Given the description of an element on the screen output the (x, y) to click on. 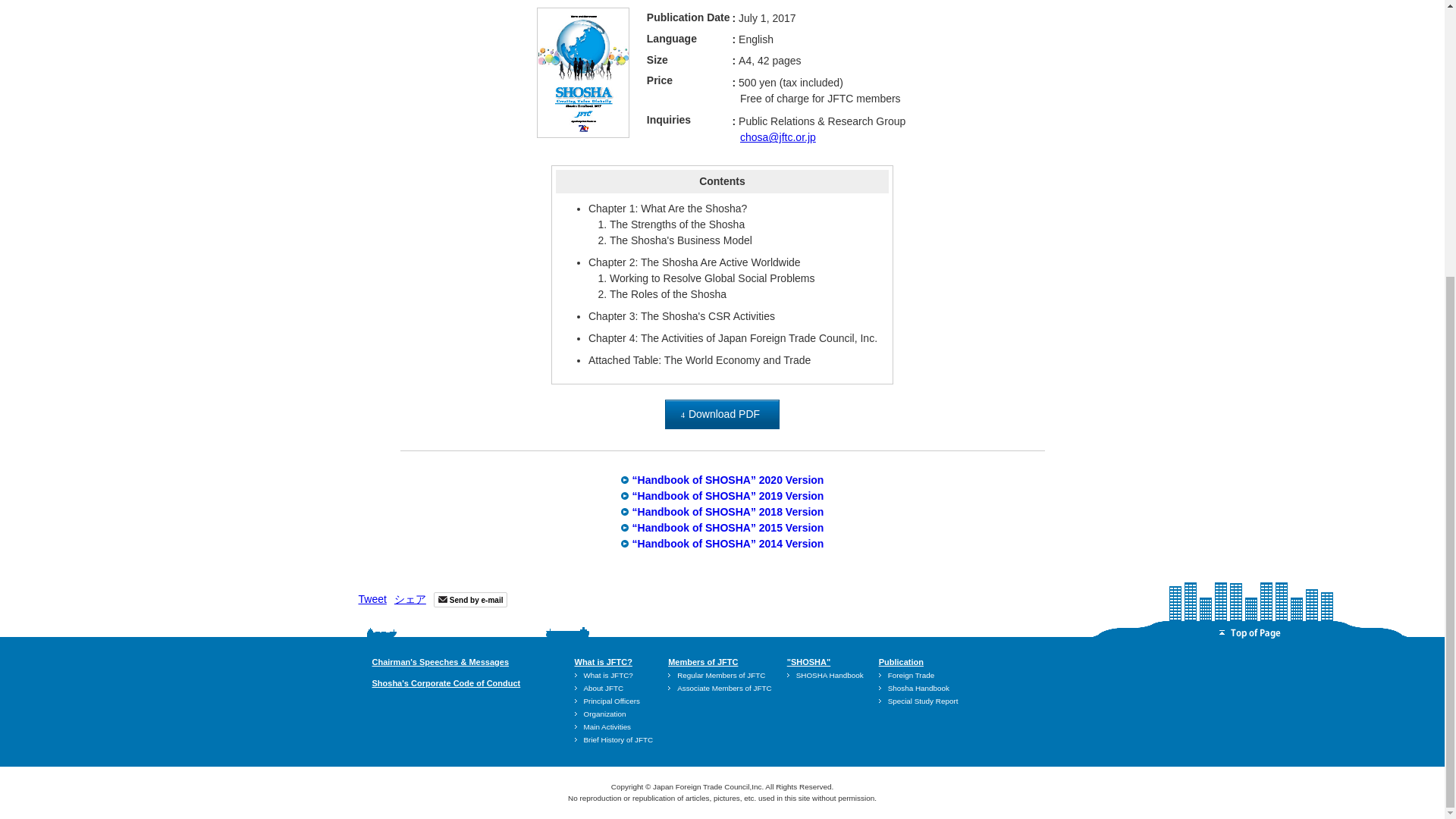
Download PDF (721, 414)
Tweet (371, 598)
Send by e-mail (470, 599)
